Given the description of an element on the screen output the (x, y) to click on. 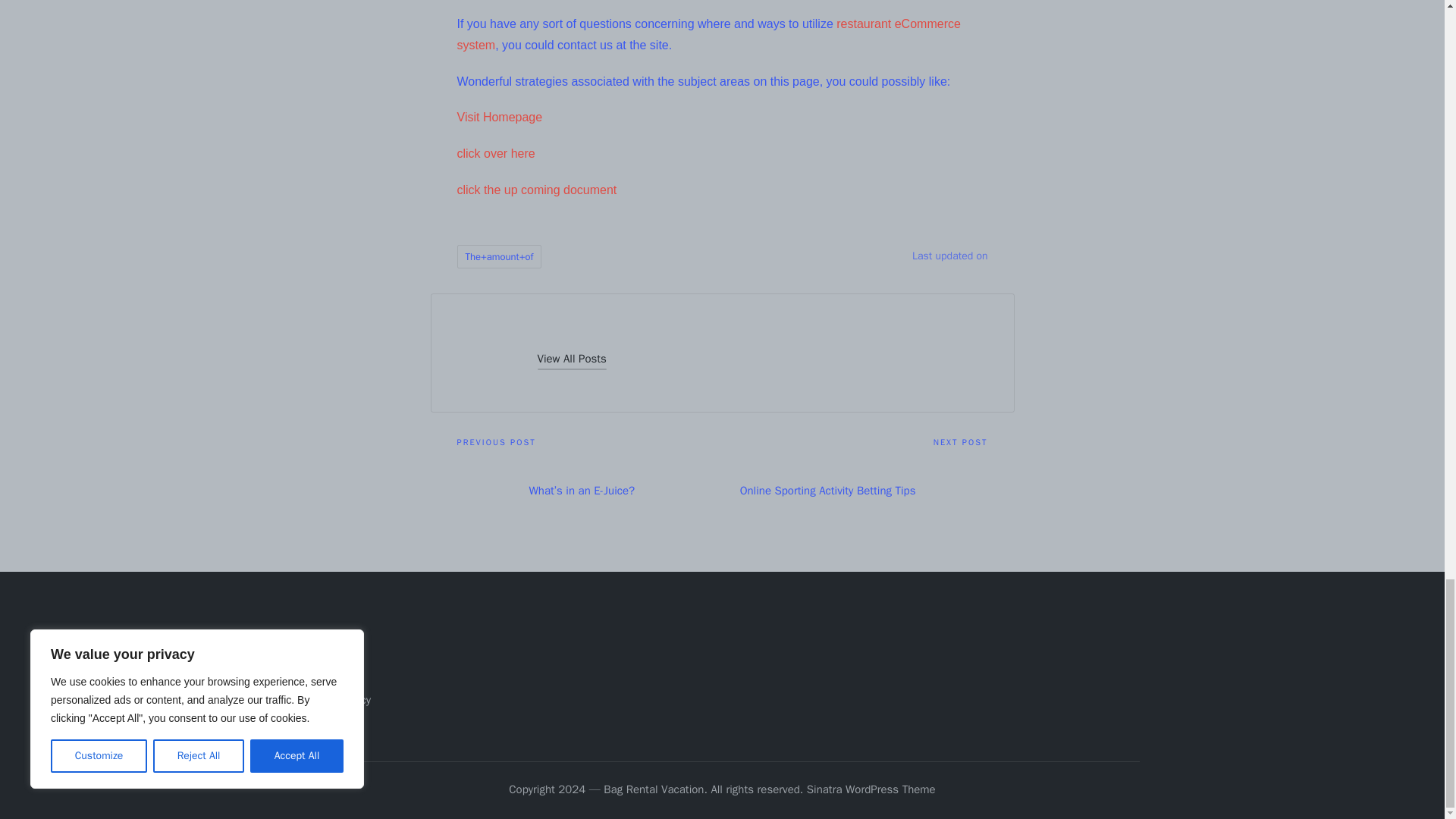
Privacy Policy (337, 699)
click over here (495, 153)
Sinatra WordPress Theme (871, 790)
View All Posts (571, 358)
click the up coming document (536, 189)
Contact (323, 674)
Online Sporting Activity Betting Tips (854, 489)
About (318, 650)
restaurant eCommerce system (708, 34)
Visit Homepage (499, 116)
